Given the description of an element on the screen output the (x, y) to click on. 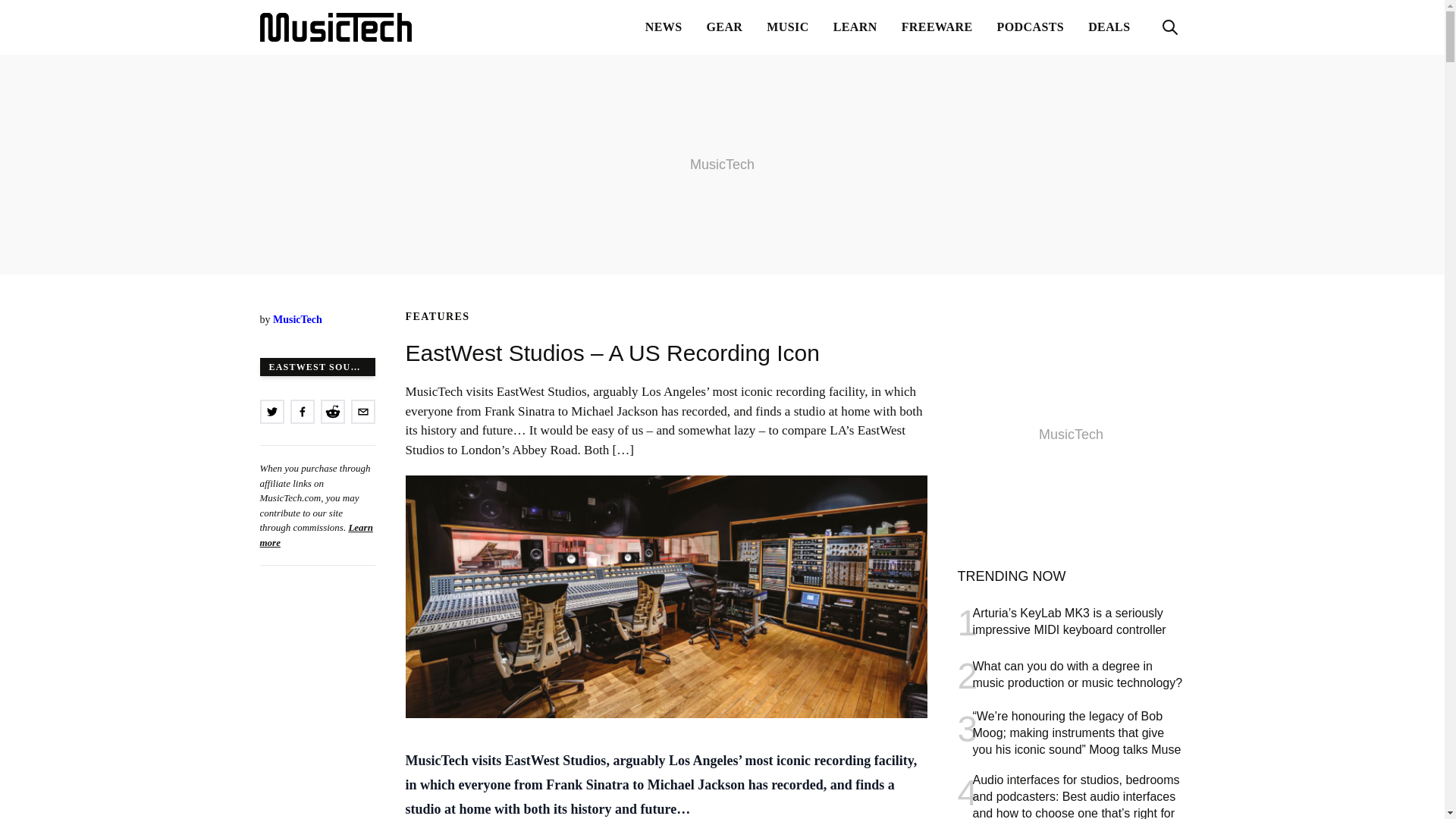
DEALS (1108, 27)
MusicTech (297, 319)
MUSIC (786, 27)
LEARN (855, 27)
FREEWARE (936, 27)
EastWest Sounds (316, 366)
PODCASTS (1030, 27)
Learn more (315, 534)
EASTWEST SOUNDS (316, 366)
